Given the description of an element on the screen output the (x, y) to click on. 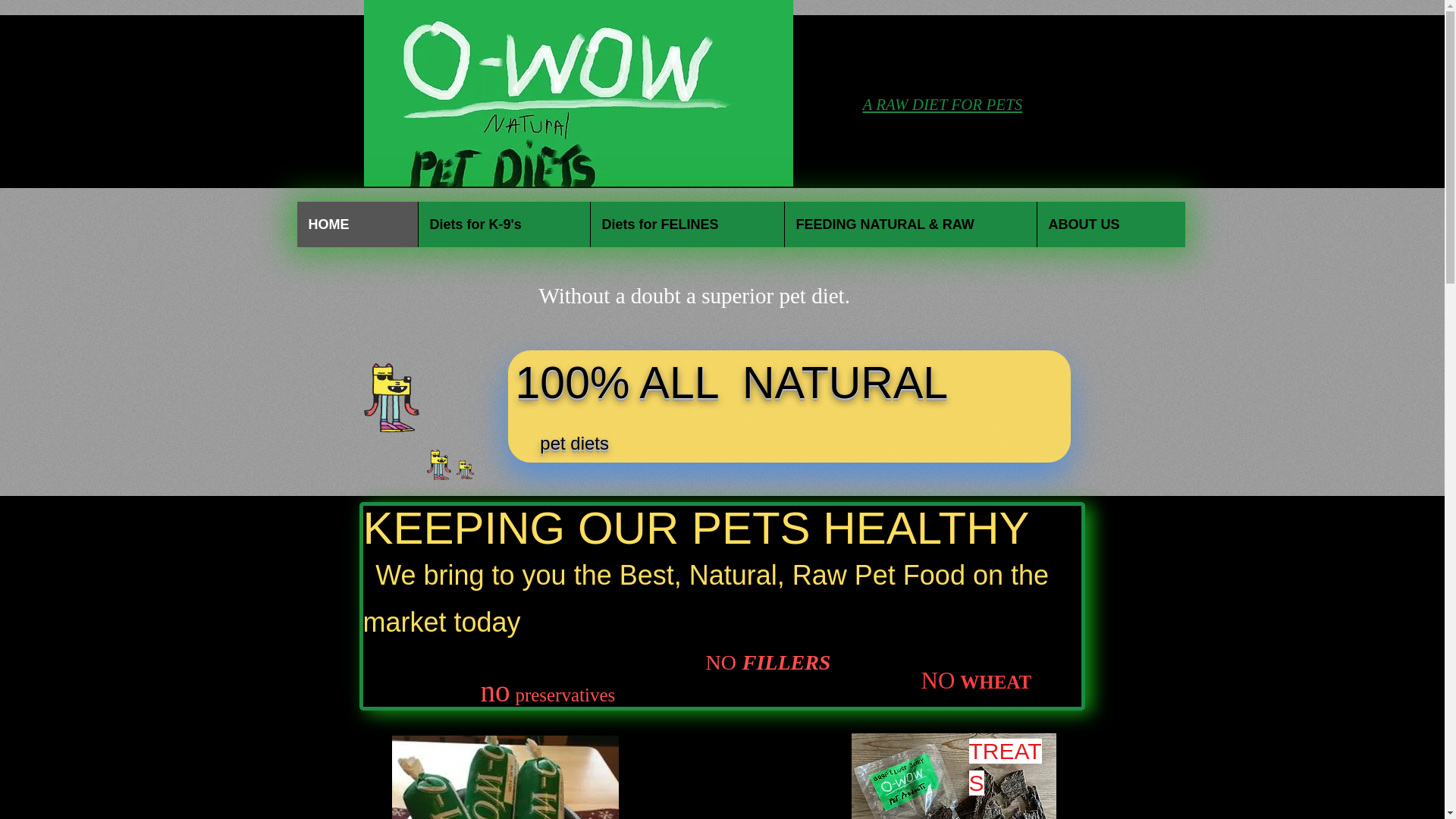
Diets for FELINES (686, 224)
pet diets (574, 443)
HOME (357, 224)
owow drawn.jpg (578, 93)
Diets for K-9's (502, 224)
ABOUT US (1110, 224)
